Given the description of an element on the screen output the (x, y) to click on. 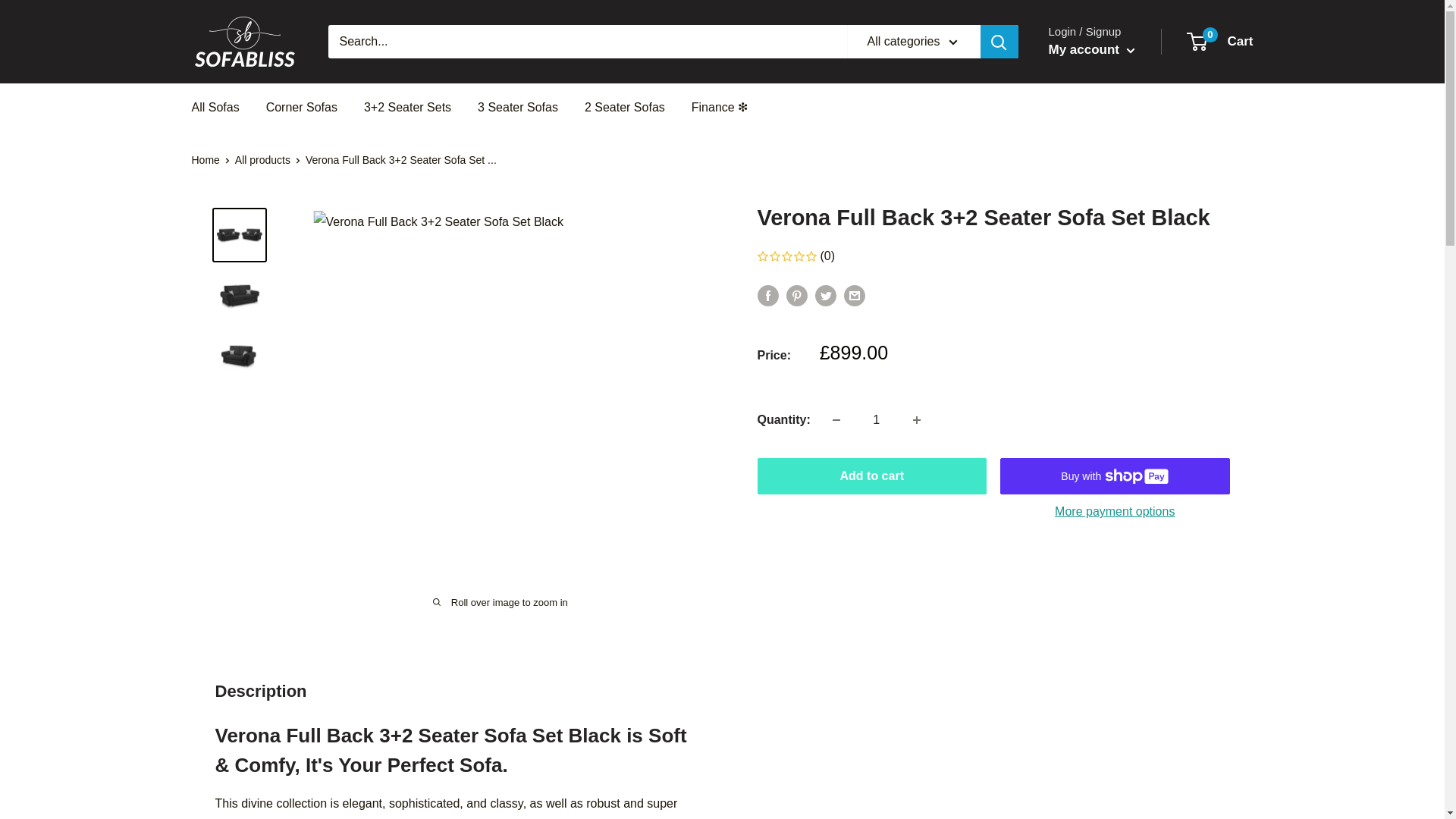
1 (876, 419)
All products (261, 159)
2 Seater Sofas (625, 107)
3 Seater Sofas (517, 107)
Sofa Bliss (1220, 41)
My account (243, 41)
Decrease quantity by 1 (1091, 49)
Corner Sofas (836, 419)
Increase quantity by 1 (301, 107)
Home (917, 419)
All Sofas (204, 159)
